Given the description of an element on the screen output the (x, y) to click on. 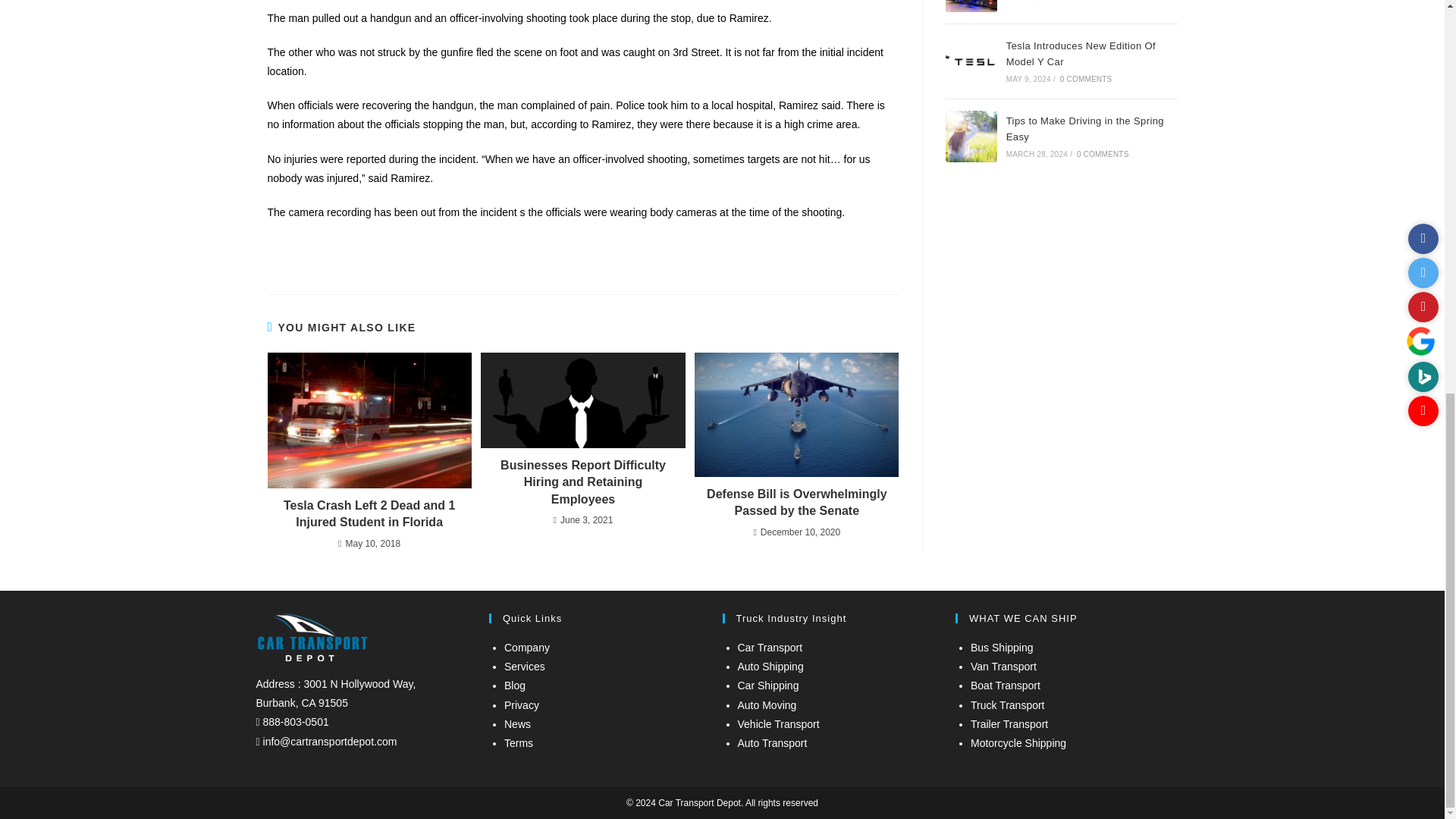
Tips to Make Driving in the Spring Easy (969, 136)
Tesla Introduces New Edition Of Model Y Car (969, 61)
Tesla Crash Left 2 Dead and 1 Injured Student in Florida (368, 514)
